Given the description of an element on the screen output the (x, y) to click on. 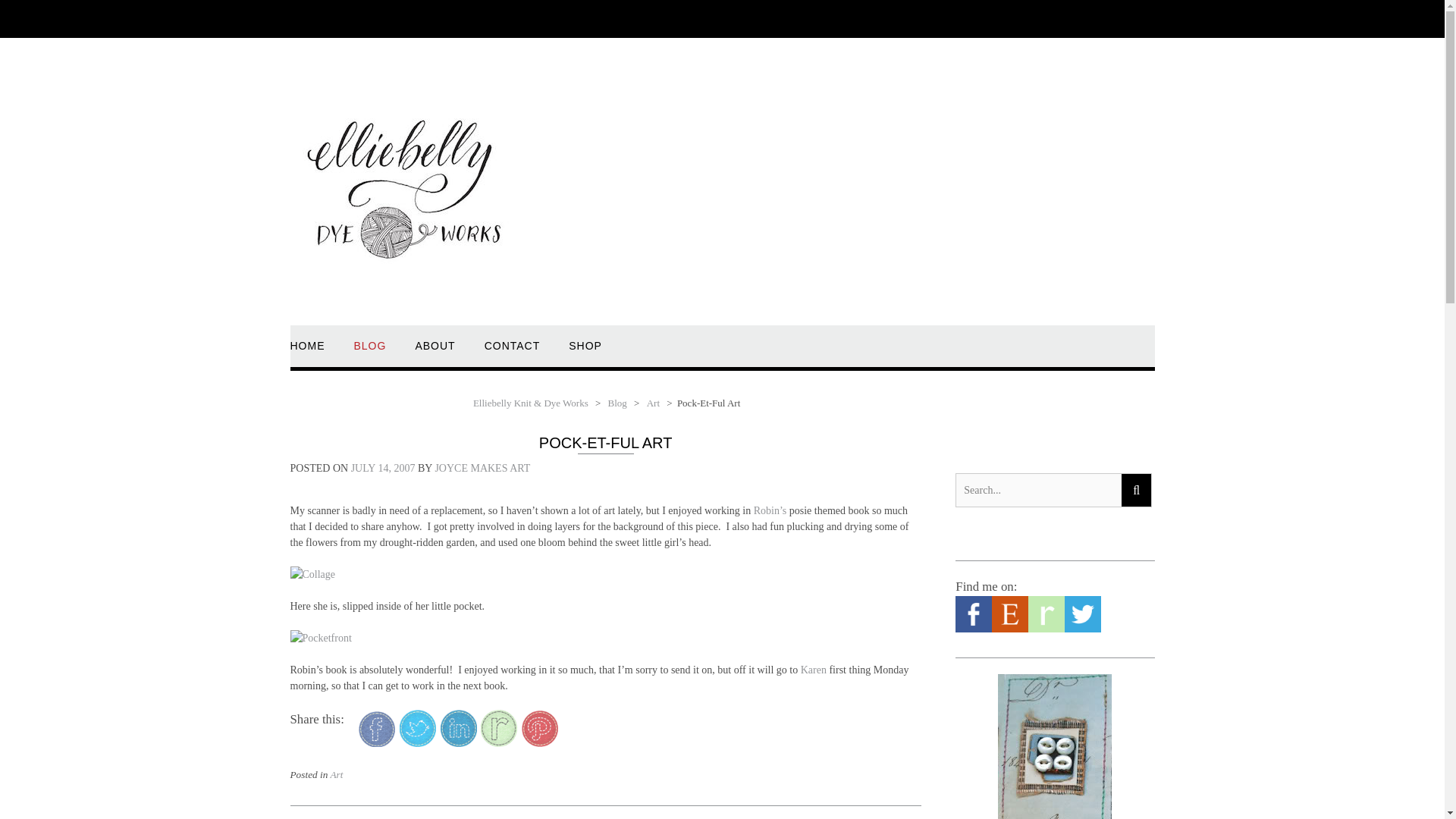
BLOG (369, 352)
Art (336, 774)
Go to Blog. (617, 402)
ABOUT (434, 352)
Collage (311, 574)
JOYCE MAKES ART (481, 468)
Etsy (1009, 628)
Art (652, 402)
Karen (813, 669)
Share via LinkedIn (459, 743)
Search for: (1038, 489)
JULY 14, 2007 (382, 468)
CONTACT (512, 352)
Share via Twitter (416, 743)
Twitter (1082, 628)
